Given the description of an element on the screen output the (x, y) to click on. 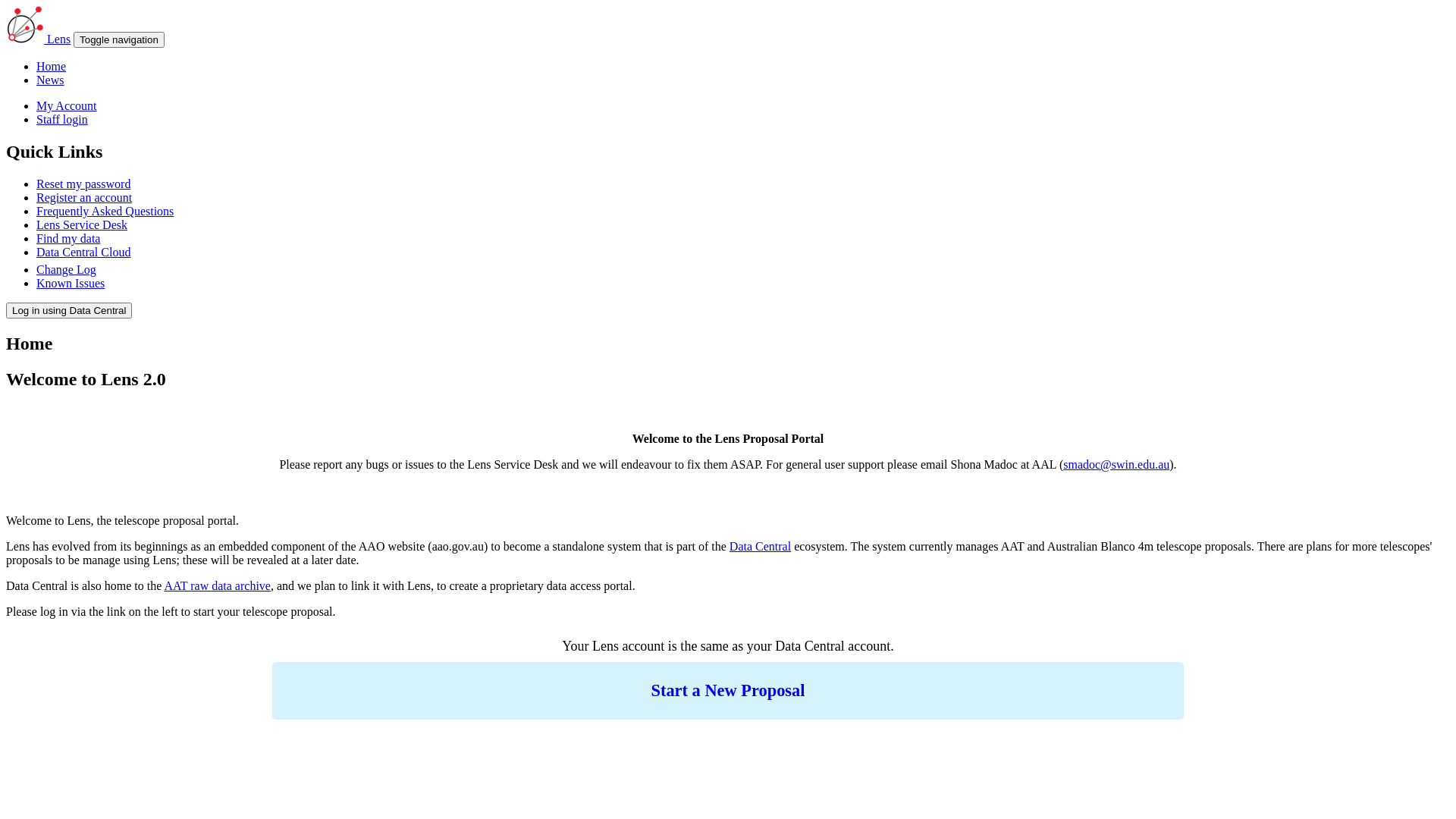
Staff login Element type: text (61, 118)
Lens Element type: text (58, 38)
Reset my password Element type: text (83, 183)
Data Central Cloud Element type: text (83, 251)
Change Log Element type: text (66, 269)
Known Issues Element type: text (70, 282)
Log in using Data Central Element type: text (68, 310)
Register an account Element type: text (83, 197)
News Element type: text (49, 79)
Lens Service Desk Element type: text (81, 224)
Data Central Element type: text (759, 545)
My Account Element type: text (66, 105)
Skip to main content Element type: text (56, 6)
Toggle navigation Element type: text (118, 39)
Home Element type: text (50, 65)
smadoc@swin.edu.au Element type: text (1116, 464)
Home Element type: hover (26, 38)
Frequently Asked Questions Element type: text (104, 210)
AAT raw data archive Element type: text (216, 585)
Find my data Element type: text (68, 238)
Start a New Proposal Element type: text (728, 689)
